Given the description of an element on the screen output the (x, y) to click on. 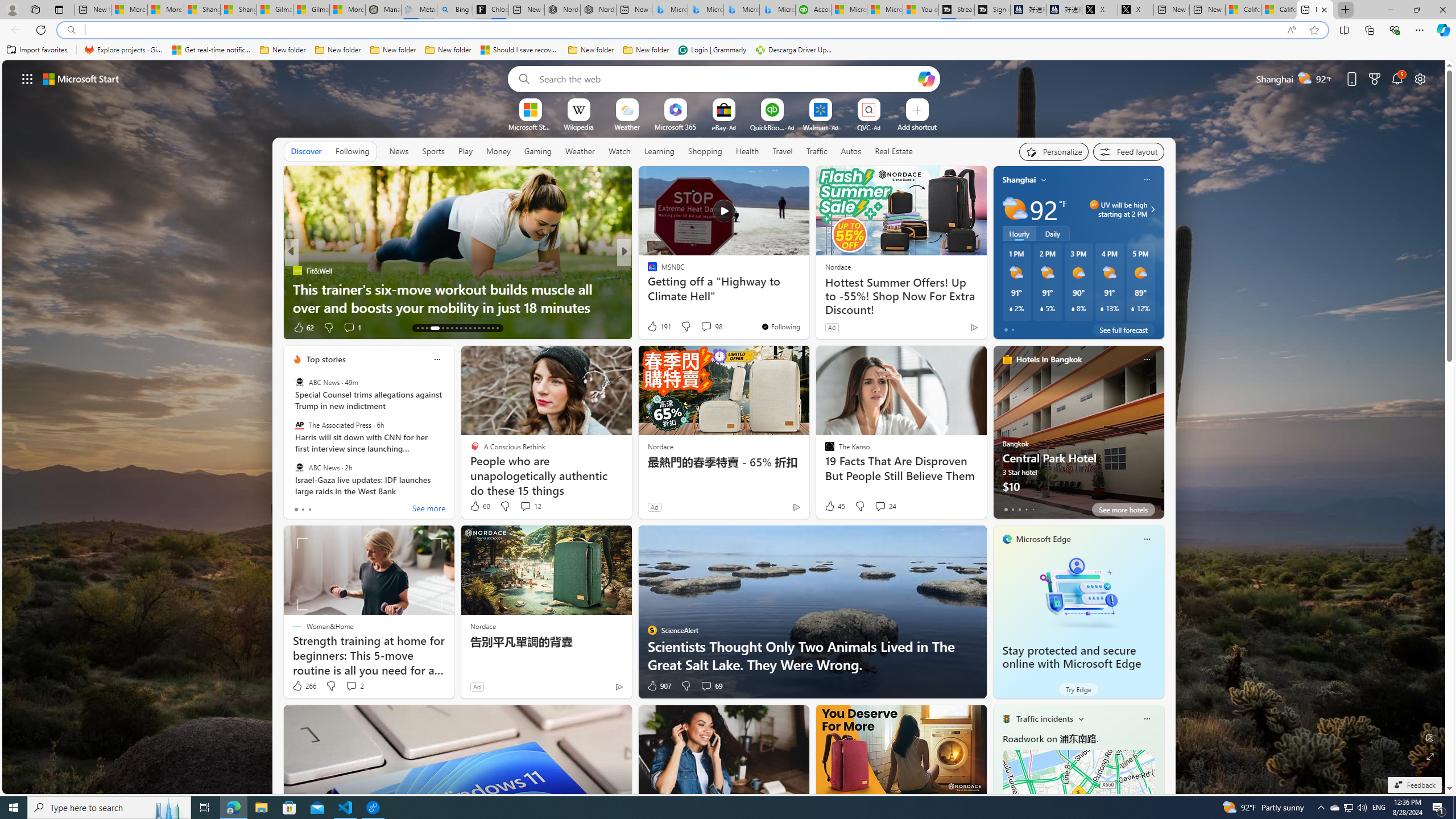
328 Like (654, 327)
The 15 Most Bizarre Deep Sea Creatures Discovered So Far (807, 298)
View comments 69 Comment (705, 685)
AutomationID: tab-13 (417, 328)
Class: weather-arrow-glyph (1152, 208)
AZ Animals (US) (296, 288)
View comments 3 Comment (705, 327)
105 Like (304, 327)
AutomationID: tab-19 (451, 328)
